Given the description of an element on the screen output the (x, y) to click on. 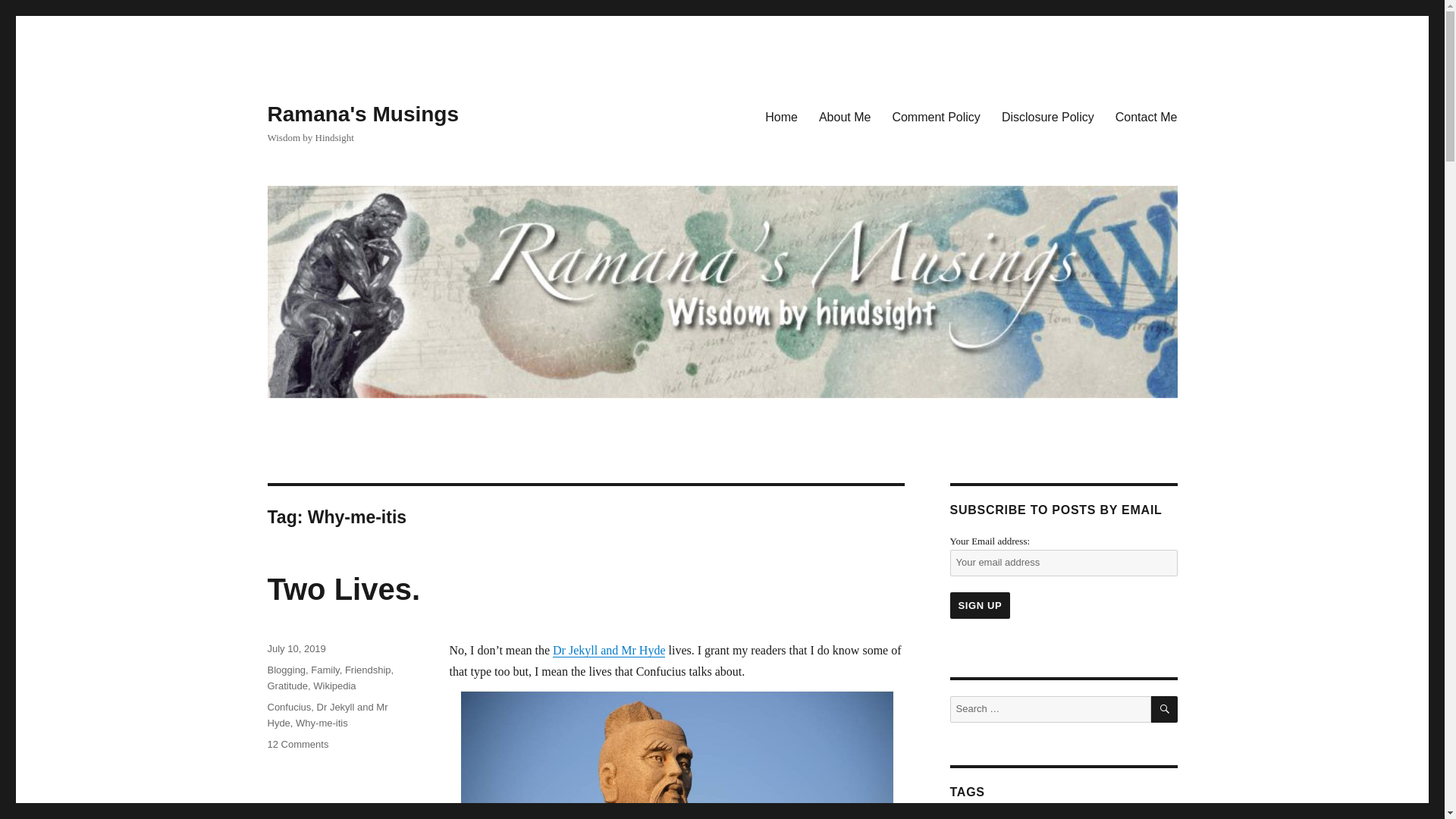
Australia (1132, 817)
Dr Jekyll and Mr Hyde (609, 649)
July 10, 2019 (295, 648)
Ramana's Musings (362, 114)
Why-me-itis (321, 722)
SEARCH (297, 744)
Ahmedabad (1164, 709)
Wikipedia (1019, 817)
Ajit Ninan (334, 685)
Family (1080, 817)
About Me (325, 669)
Aging (844, 116)
Home (967, 817)
Sign up (781, 116)
